Given the description of an element on the screen output the (x, y) to click on. 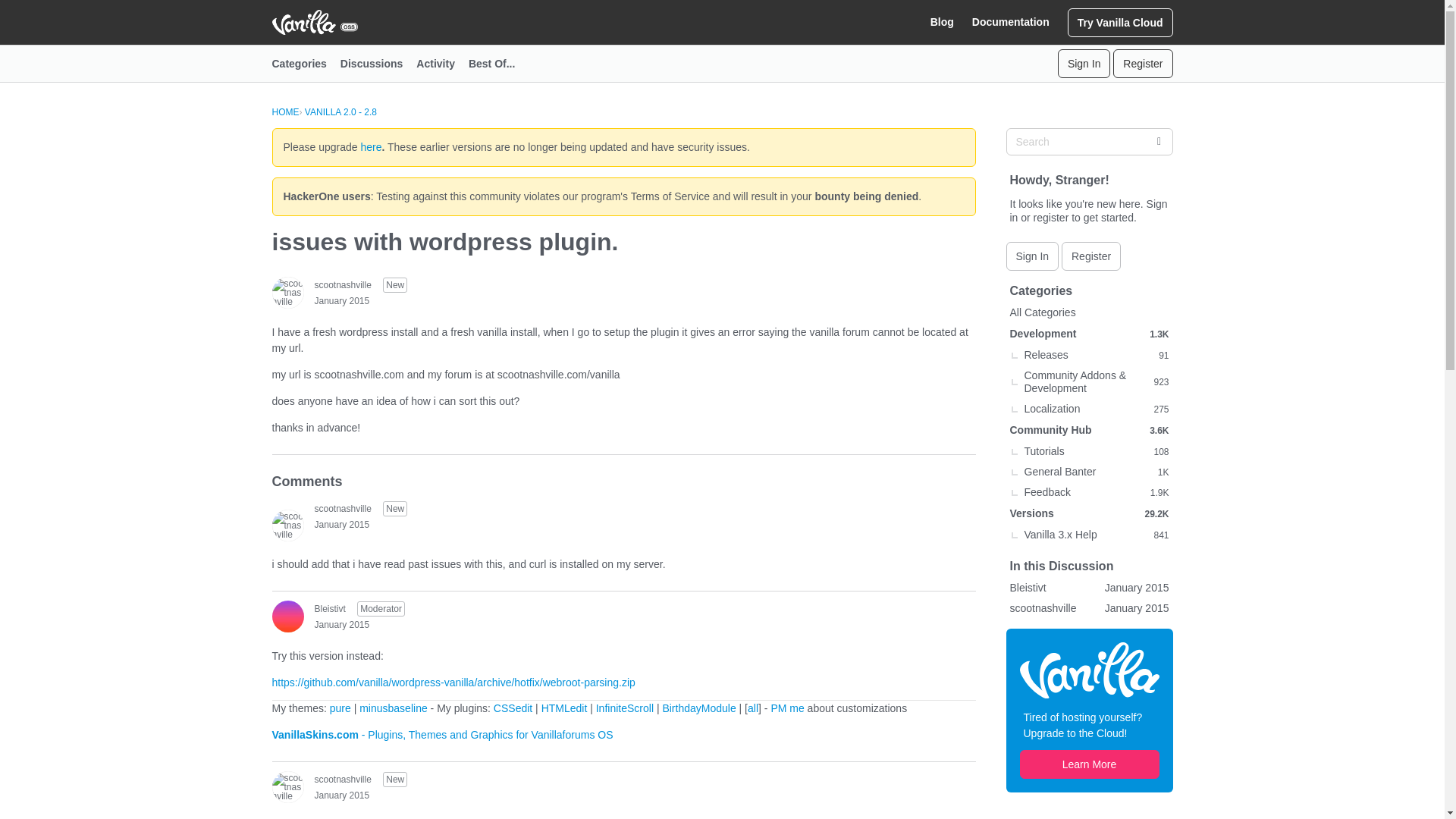
Moderator (380, 608)
Categories (304, 63)
January 2015 (341, 300)
Try Vanilla Cloud (1120, 21)
Vanilla (1088, 669)
Best Of... (498, 63)
scootnashville (342, 284)
HOME (284, 112)
Discussions (378, 63)
New (394, 284)
